Given the description of an element on the screen output the (x, y) to click on. 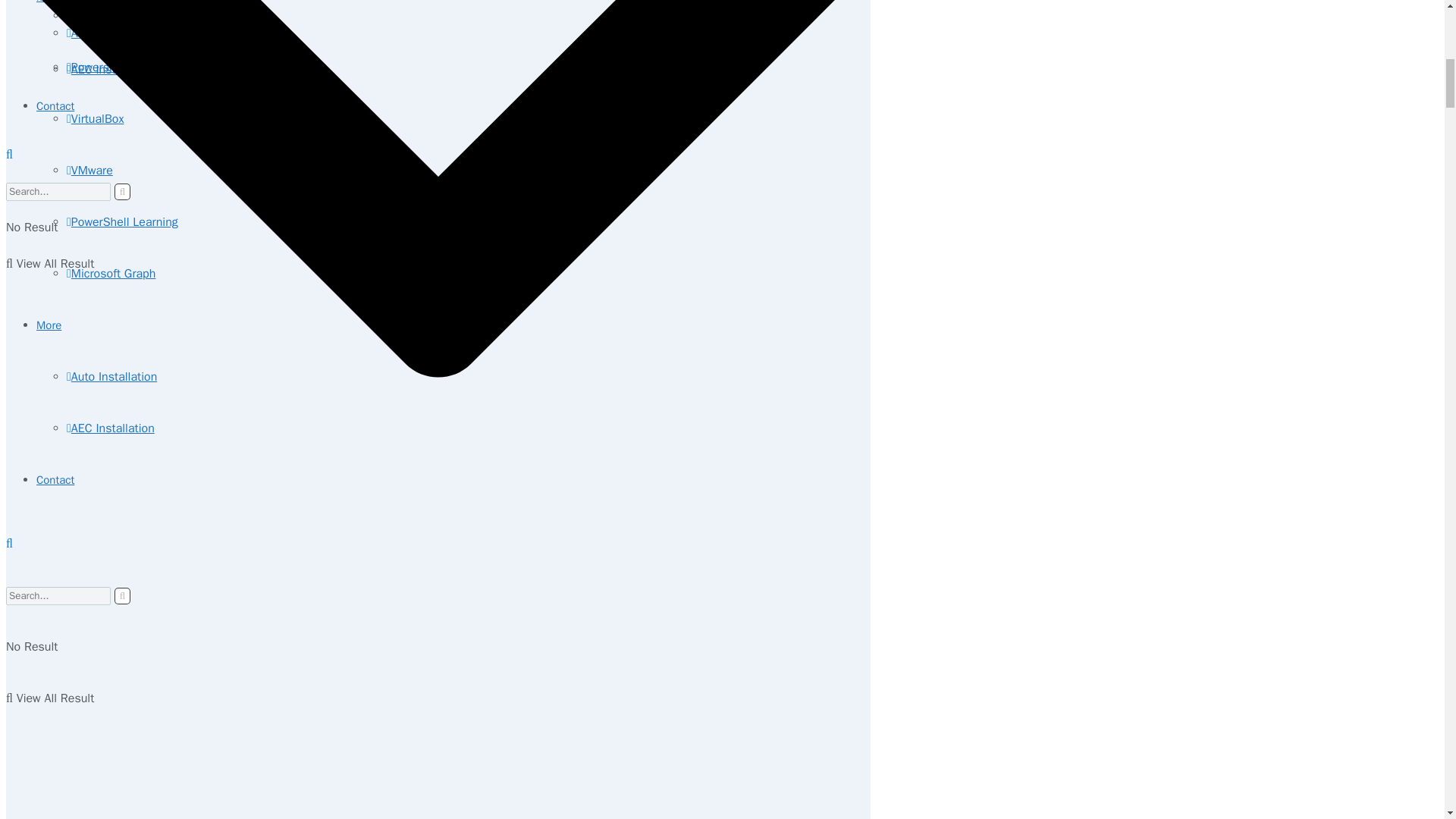
More (48, 325)
Microsoft Graph (110, 273)
VirtualBox (94, 118)
VMware (89, 170)
Auto Installation (111, 376)
PowerShell Learning (121, 222)
Contact (55, 479)
Powershell (97, 67)
AEC Installation (110, 427)
Microsoft Azure (109, 15)
